Given the description of an element on the screen output the (x, y) to click on. 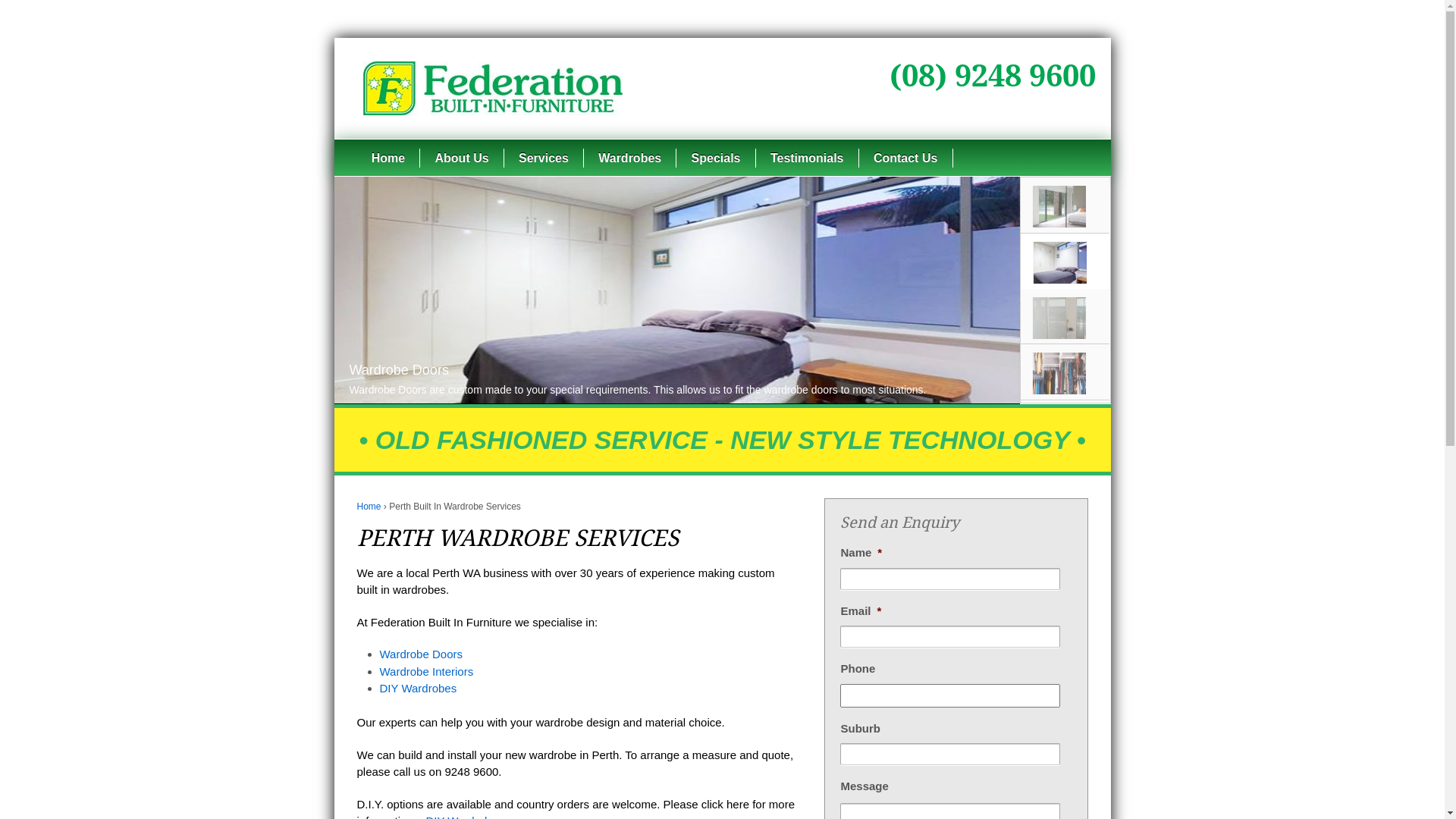
Specials Element type: text (715, 157)
Services Element type: text (543, 157)
DIY Wardrobes Element type: text (417, 687)
Testimonials Element type: text (807, 157)
Home Element type: text (387, 157)
Wardrobes Element type: text (629, 157)
(08) 9248 9600 Element type: text (991, 76)
Wardrobe Interiors Element type: text (426, 670)
Contact Us Element type: text (905, 157)
Wardrobe Doors Element type: text (420, 653)
About Us Element type: text (461, 157)
Home Element type: text (368, 506)
